Given the description of an element on the screen output the (x, y) to click on. 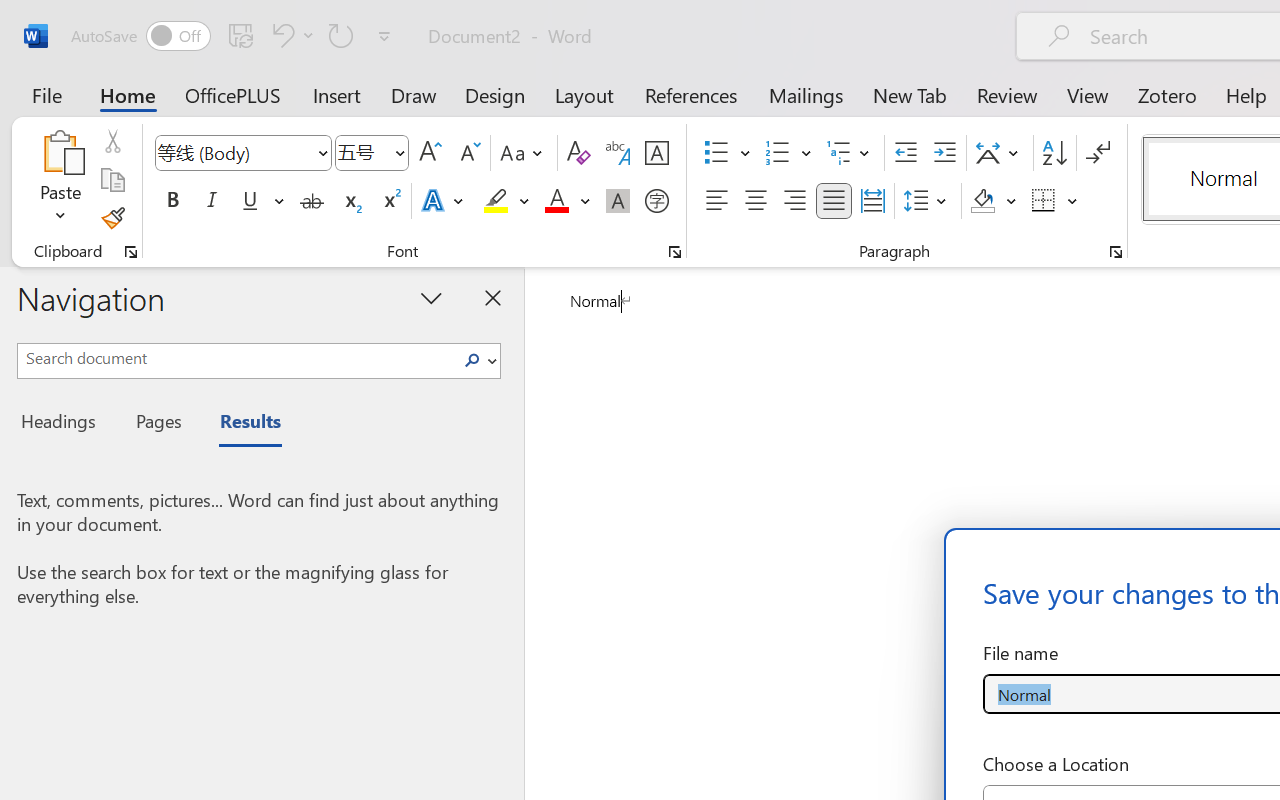
Character Shading (618, 201)
New Tab (909, 94)
Grow Font (430, 153)
Phonetic Guide... (618, 153)
AutoSave (140, 35)
View (1087, 94)
Text Effects and Typography (444, 201)
